Given the description of an element on the screen output the (x, y) to click on. 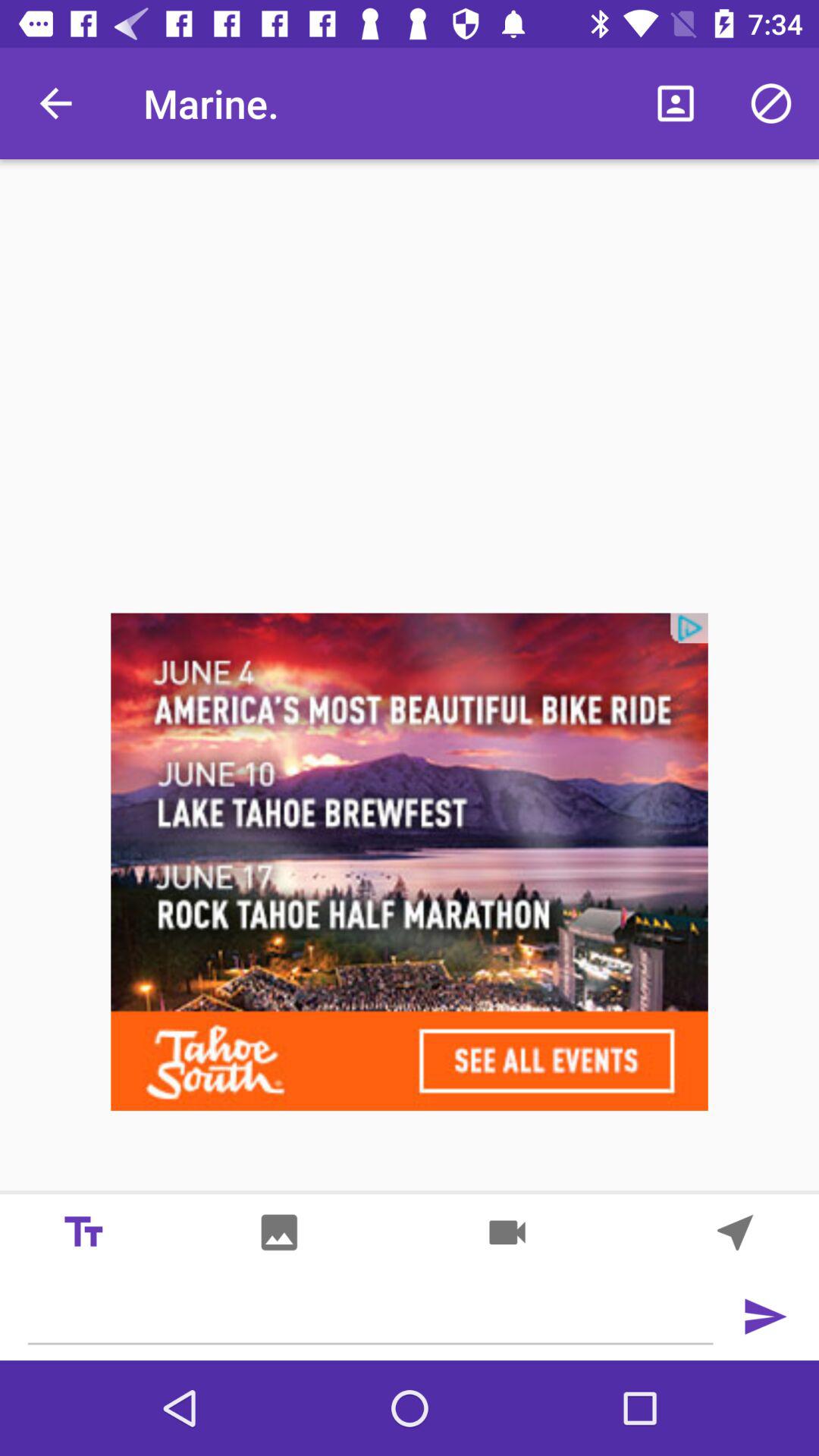
go back (764, 1316)
